Given the description of an element on the screen output the (x, y) to click on. 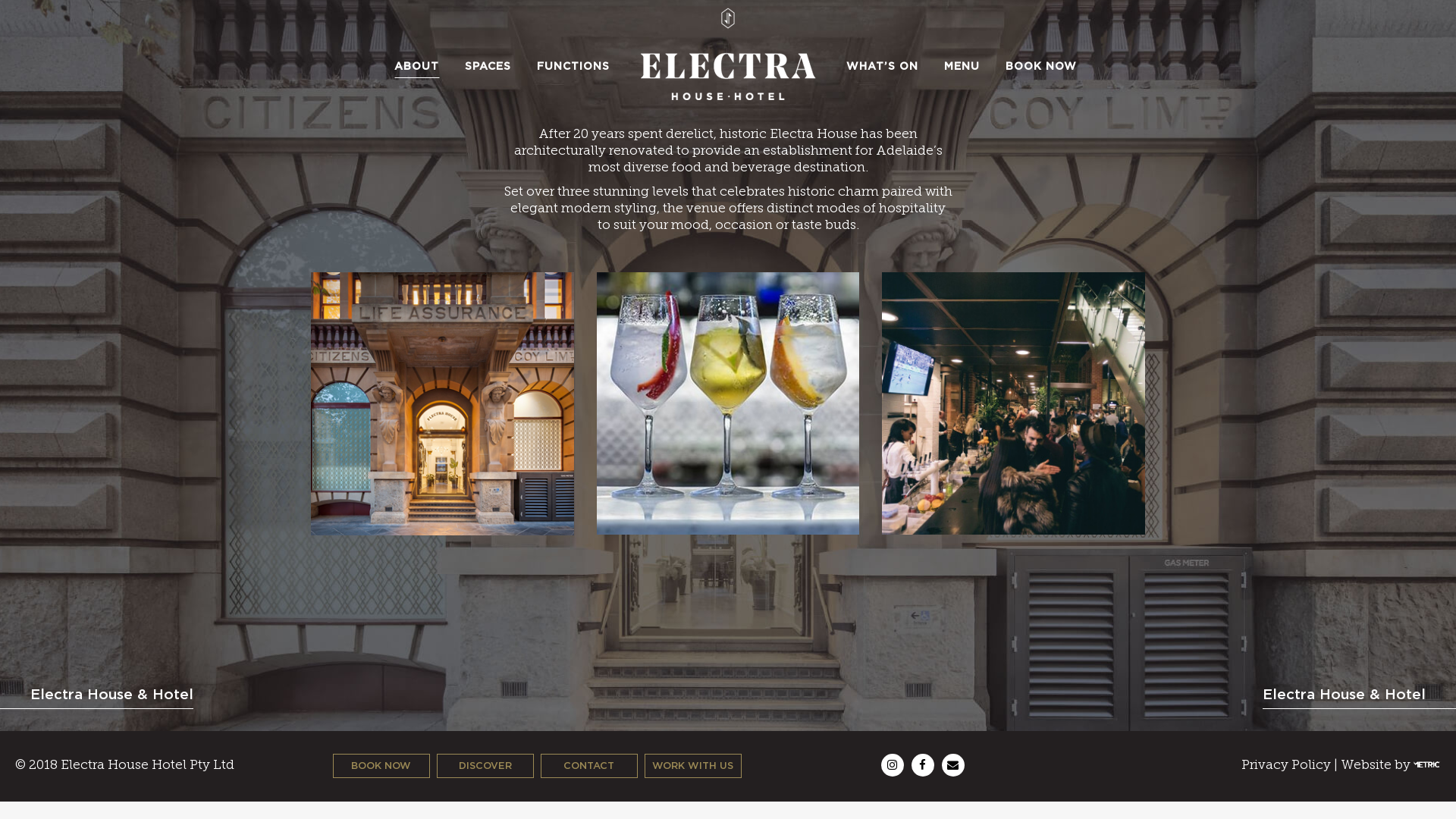
SPACES Element type: text (487, 65)
Privacy Policy Element type: text (1285, 765)
BOOK NOW Element type: text (1040, 65)
ABOUT Element type: text (416, 65)
DISCOVER Element type: text (484, 765)
WORK WITH US Element type: text (692, 765)
MENU Element type: text (961, 65)
BOOK NOW Element type: text (380, 765)
FUNCTIONS Element type: text (573, 65)
CONTACT Element type: text (588, 765)
